Given the description of an element on the screen output the (x, y) to click on. 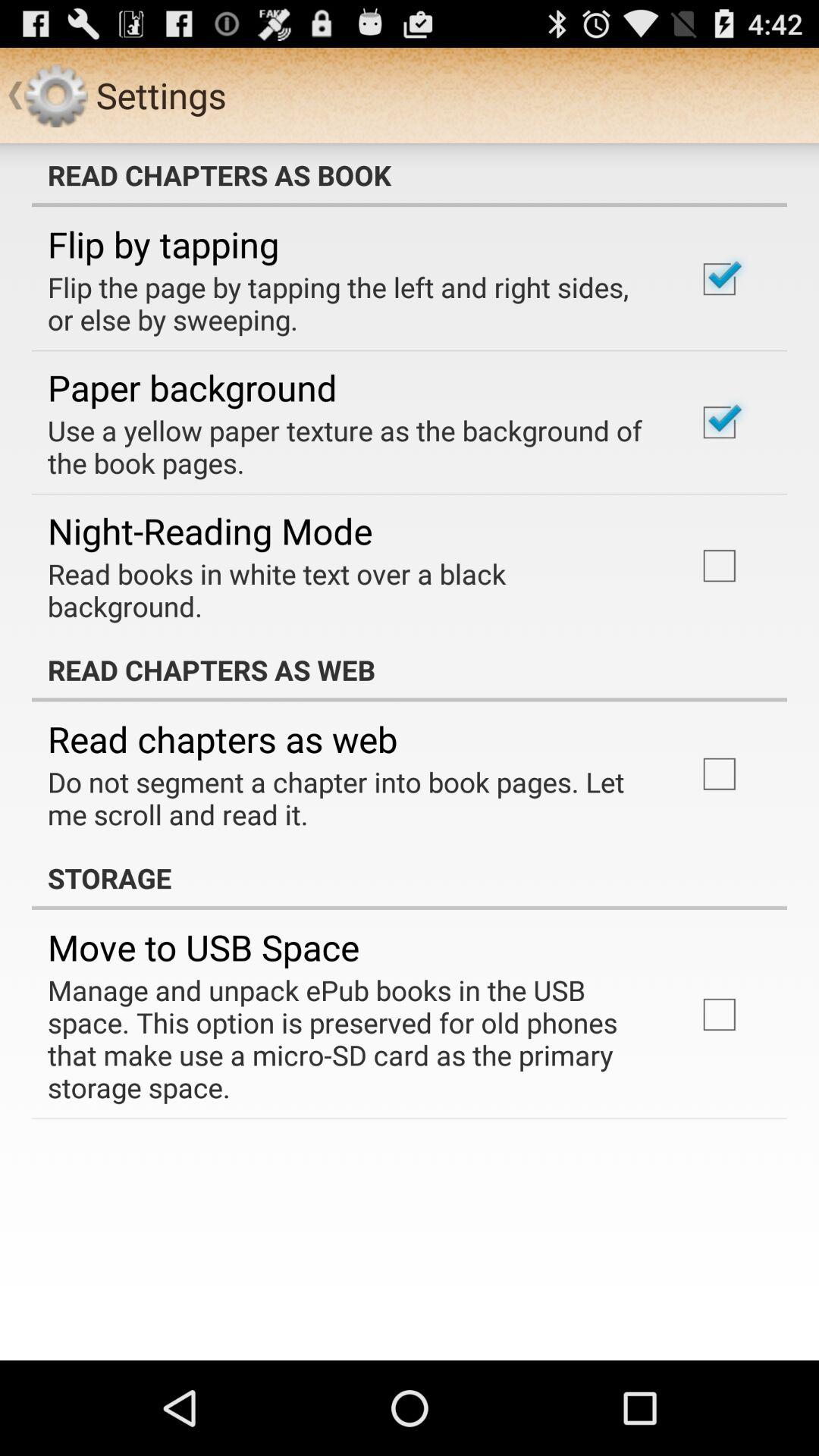
swipe until flip the page item (351, 303)
